Given the description of an element on the screen output the (x, y) to click on. 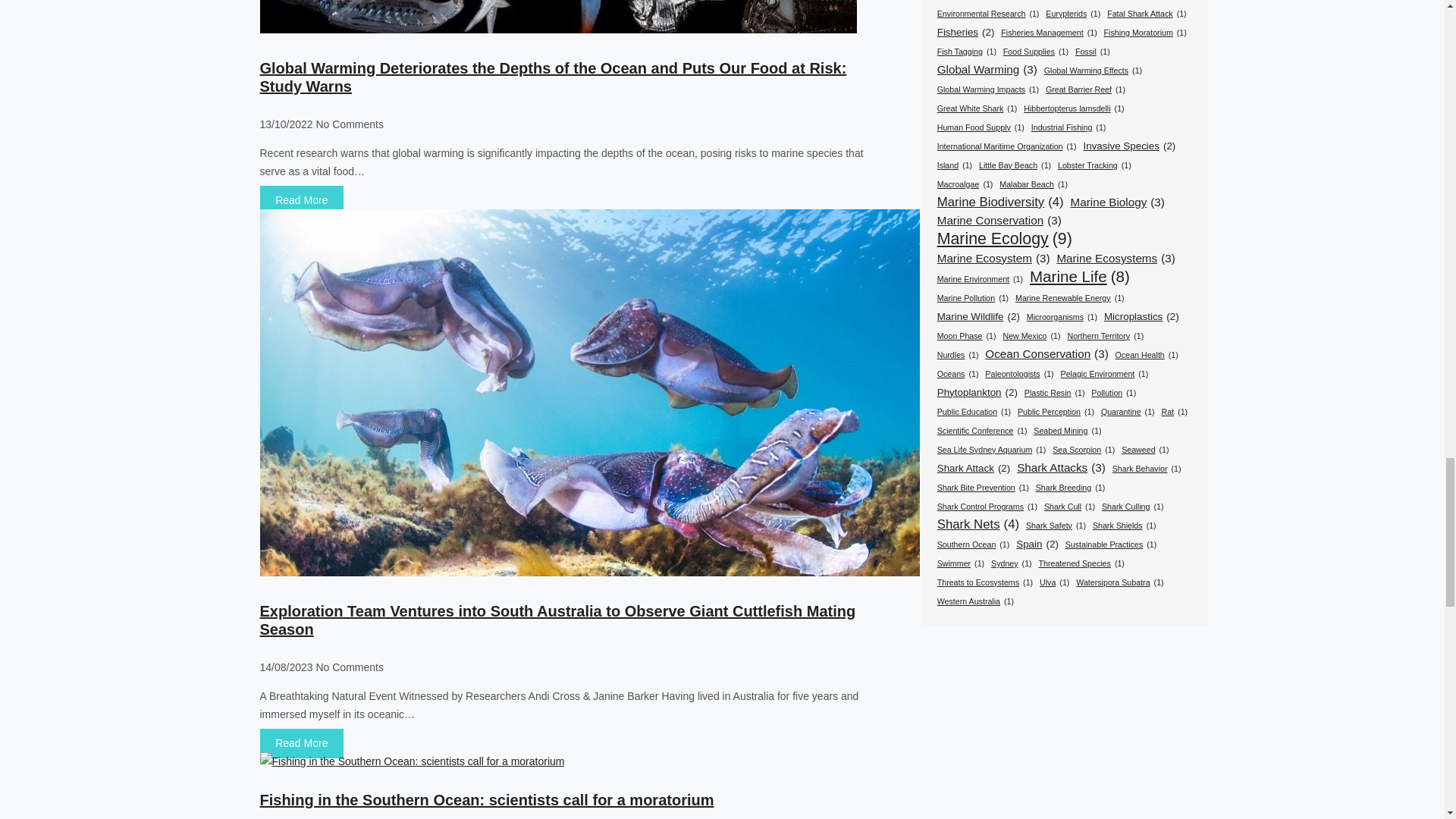
Read More (301, 200)
Read More (301, 743)
